Given the description of an element on the screen output the (x, y) to click on. 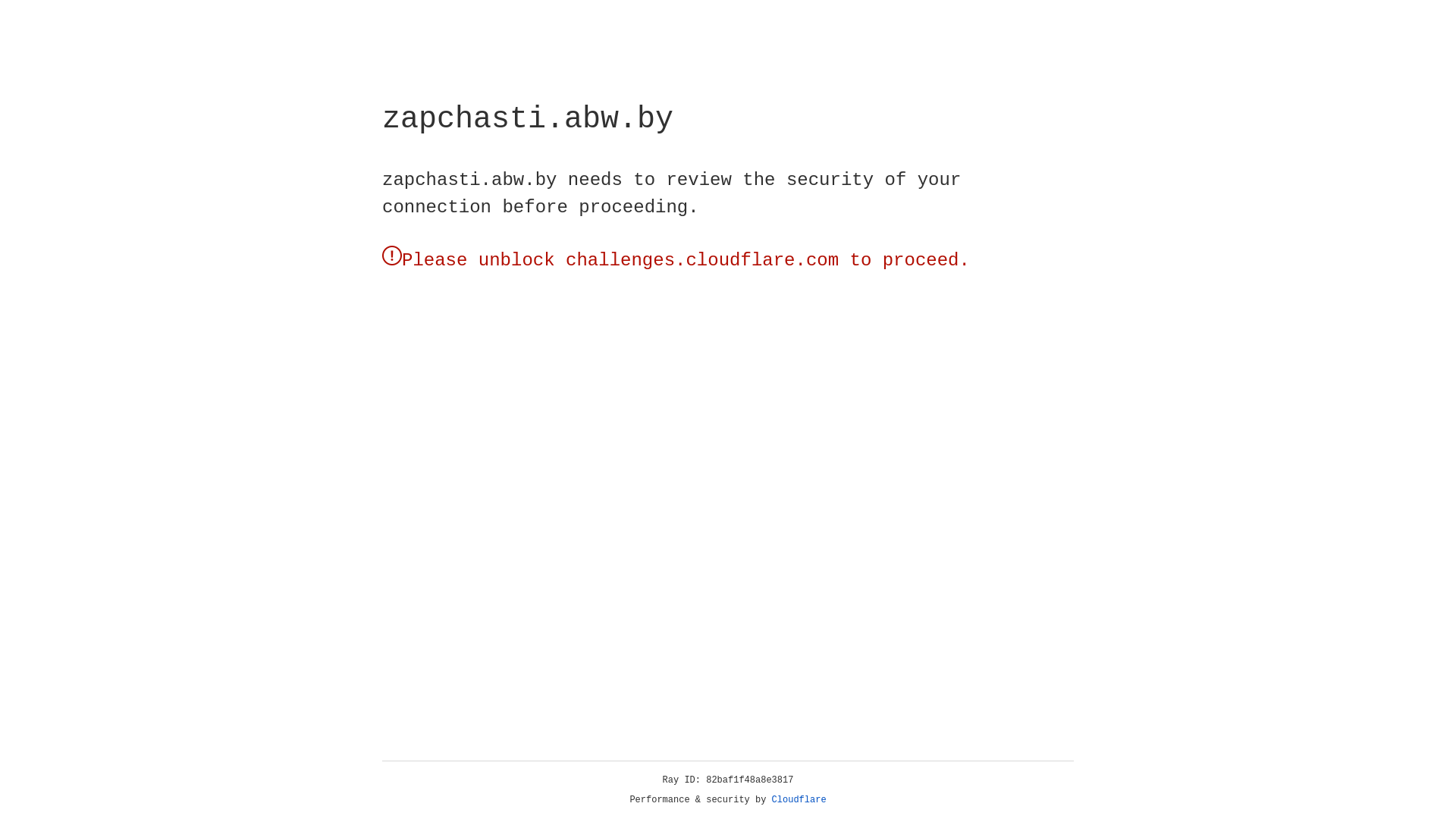
Cloudflare Element type: text (798, 799)
